Given the description of an element on the screen output the (x, y) to click on. 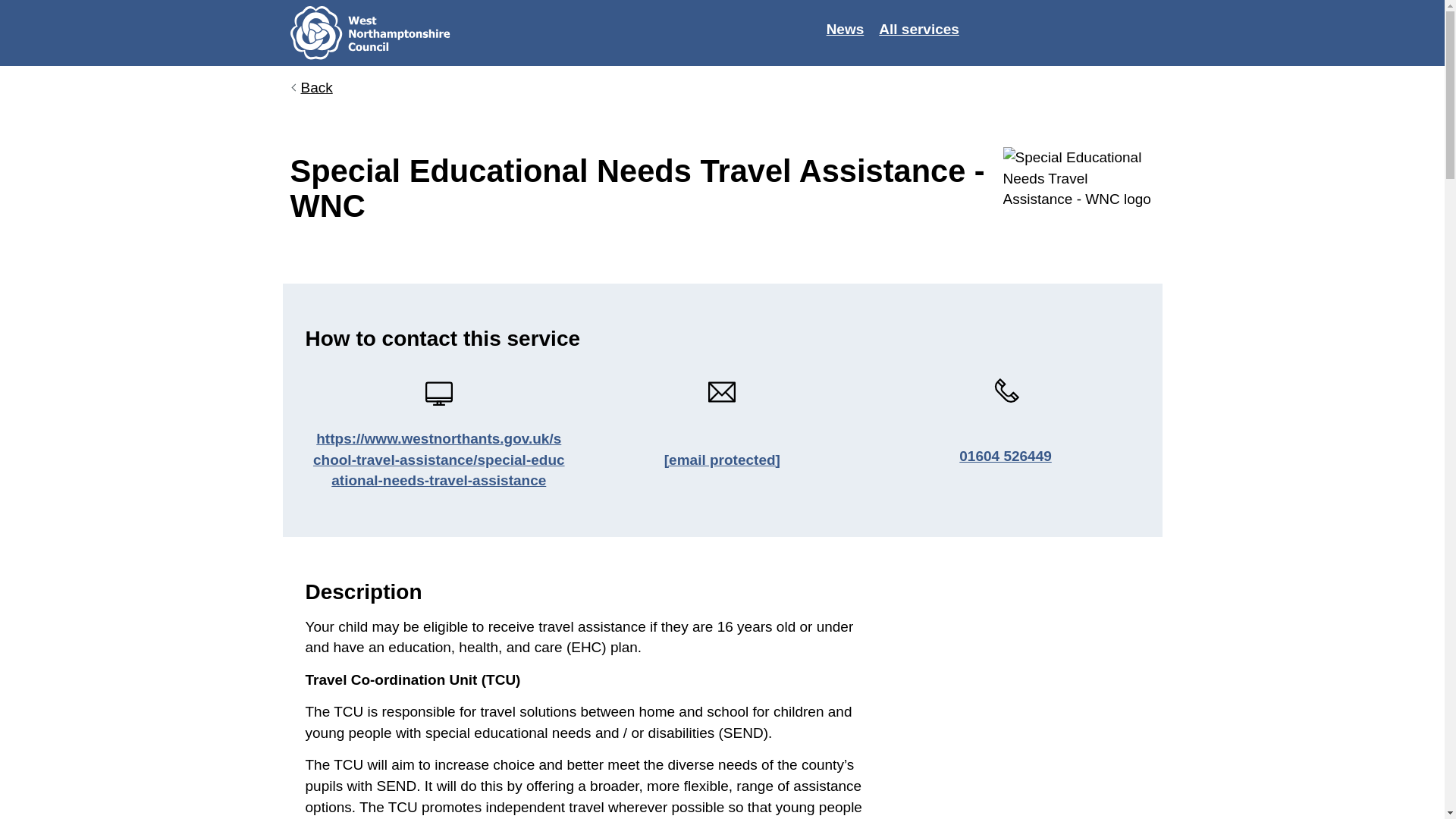
Home (380, 32)
All services (918, 29)
News (845, 29)
Back (310, 87)
01604 526449 (1005, 456)
Skip to main content (11, 7)
